Given the description of an element on the screen output the (x, y) to click on. 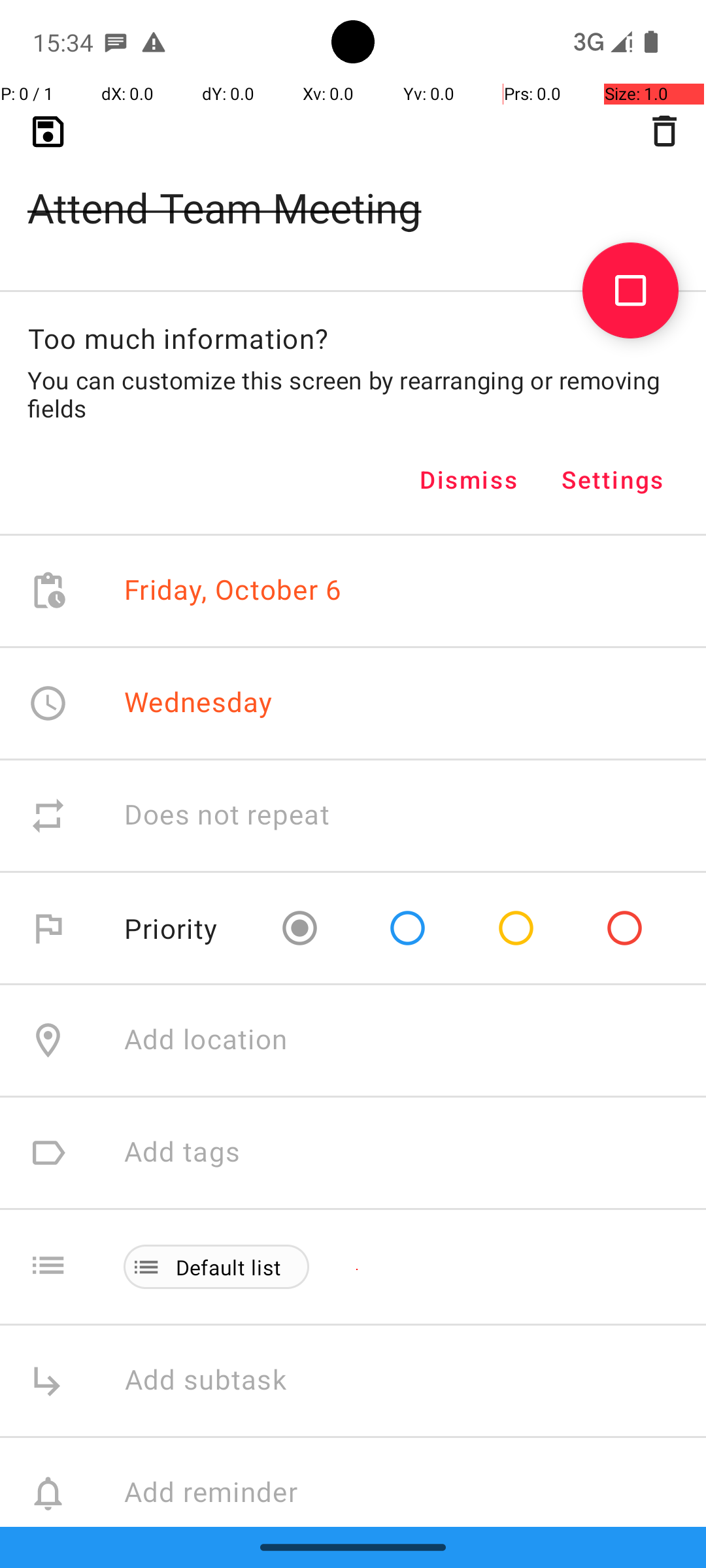
Friday, October 6 Element type: android.widget.TextView (232, 590)
